Given the description of an element on the screen output the (x, y) to click on. 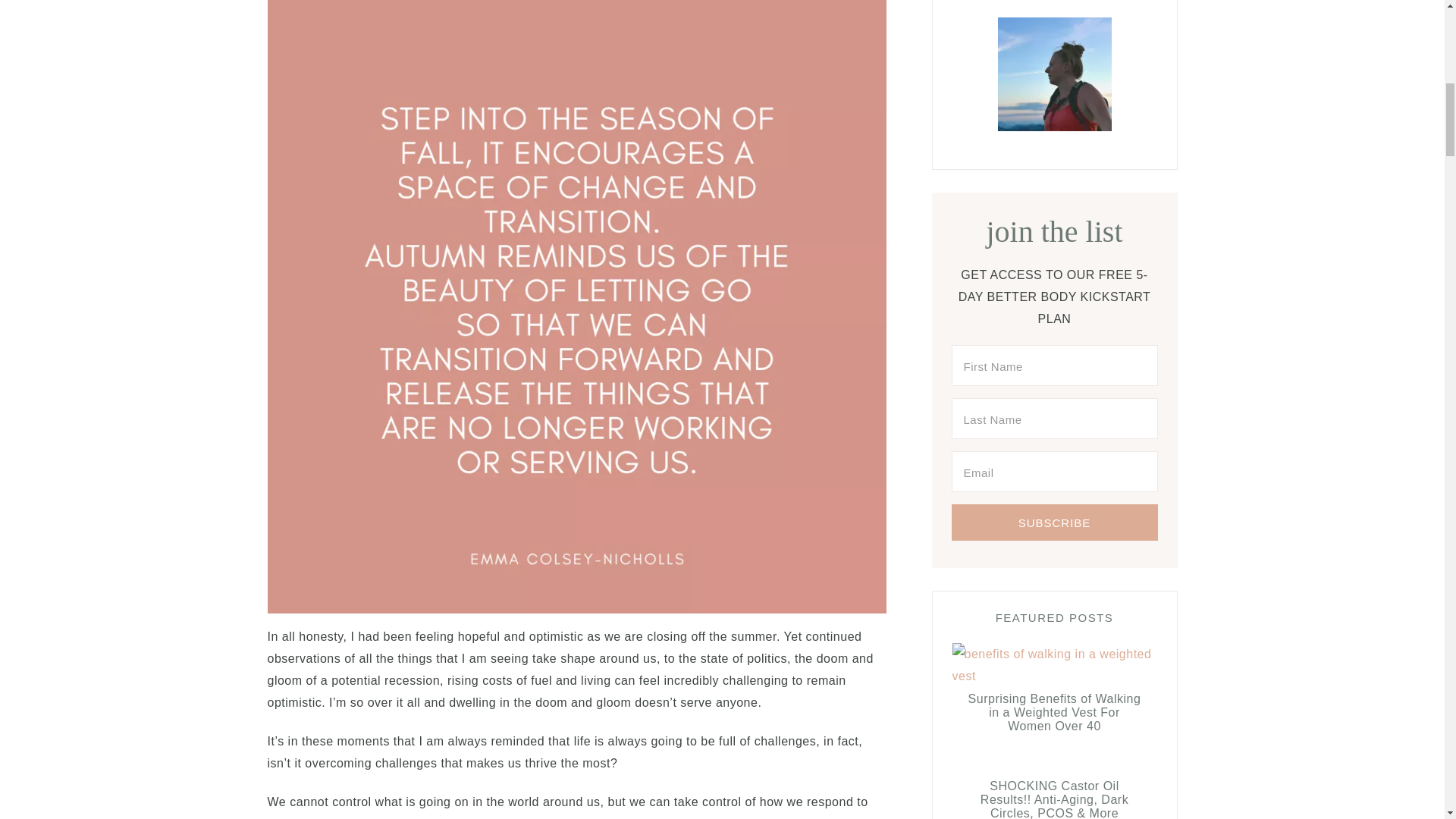
Subscribe (1053, 522)
